Given the description of an element on the screen output the (x, y) to click on. 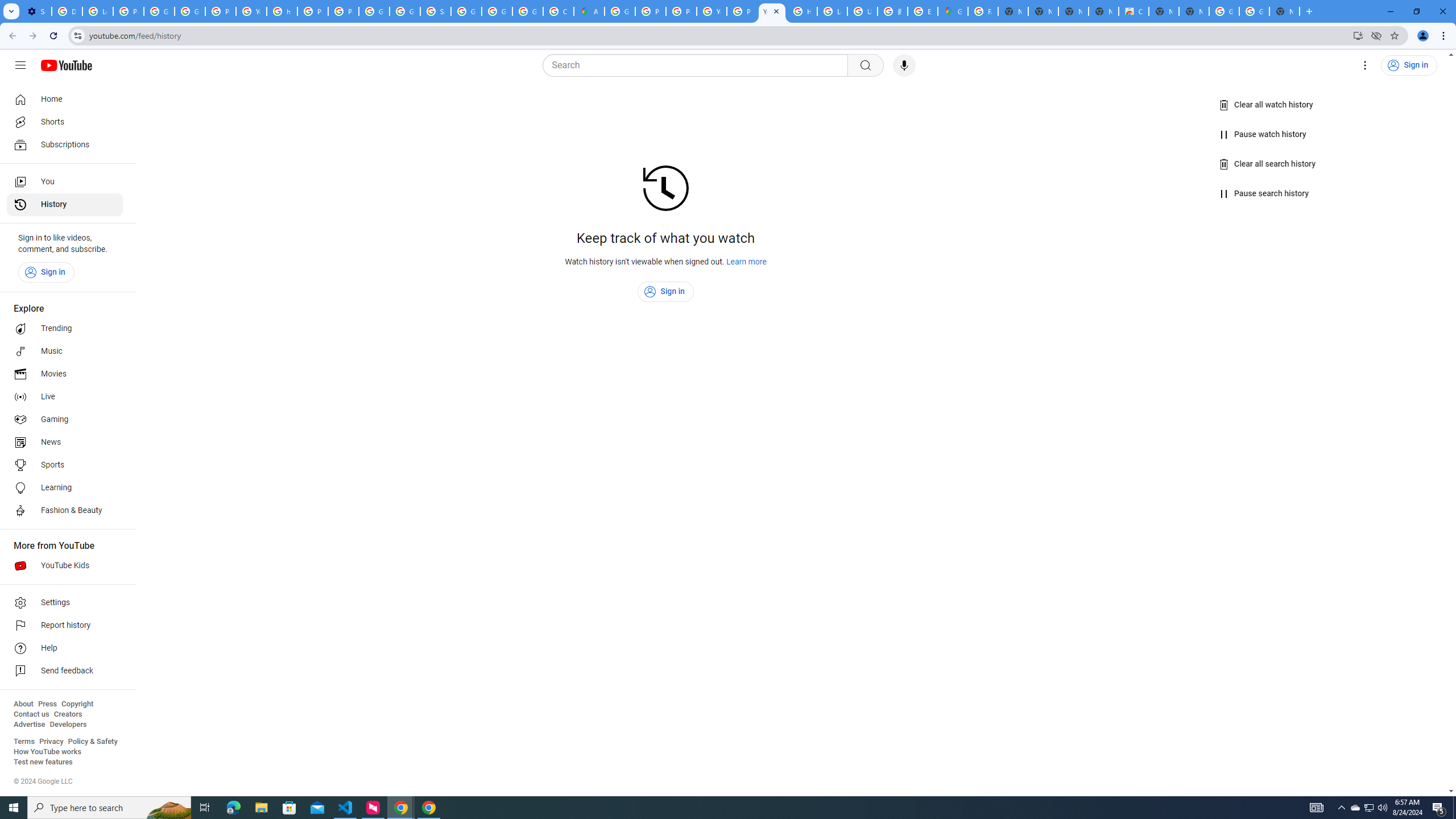
Google Maps (952, 11)
Chrome Web Store (1133, 11)
Address and search bar (717, 35)
Movies (64, 373)
Send feedback (64, 671)
